Given the description of an element on the screen output the (x, y) to click on. 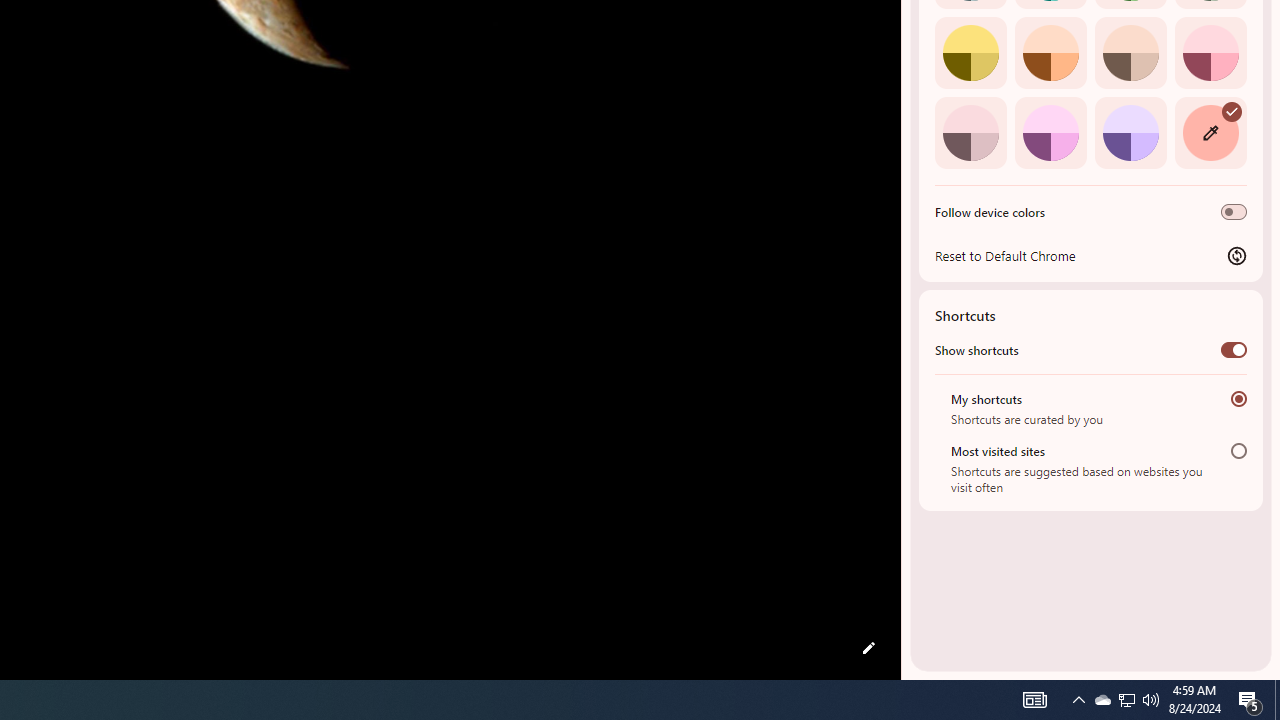
Pink (970, 132)
Most visited sites (1238, 450)
My shortcuts (1238, 398)
Reset to Default Chrome (1091, 255)
AutomationID: svg (1231, 110)
Apricot (1130, 52)
Citron (970, 52)
Side Panel Resize Handle (905, 39)
Follow device colors (1233, 211)
Fuchsia (1050, 132)
Show shortcuts (1233, 349)
Orange (1050, 52)
Violet (1130, 132)
Custom color (1210, 132)
